Given the description of an element on the screen output the (x, y) to click on. 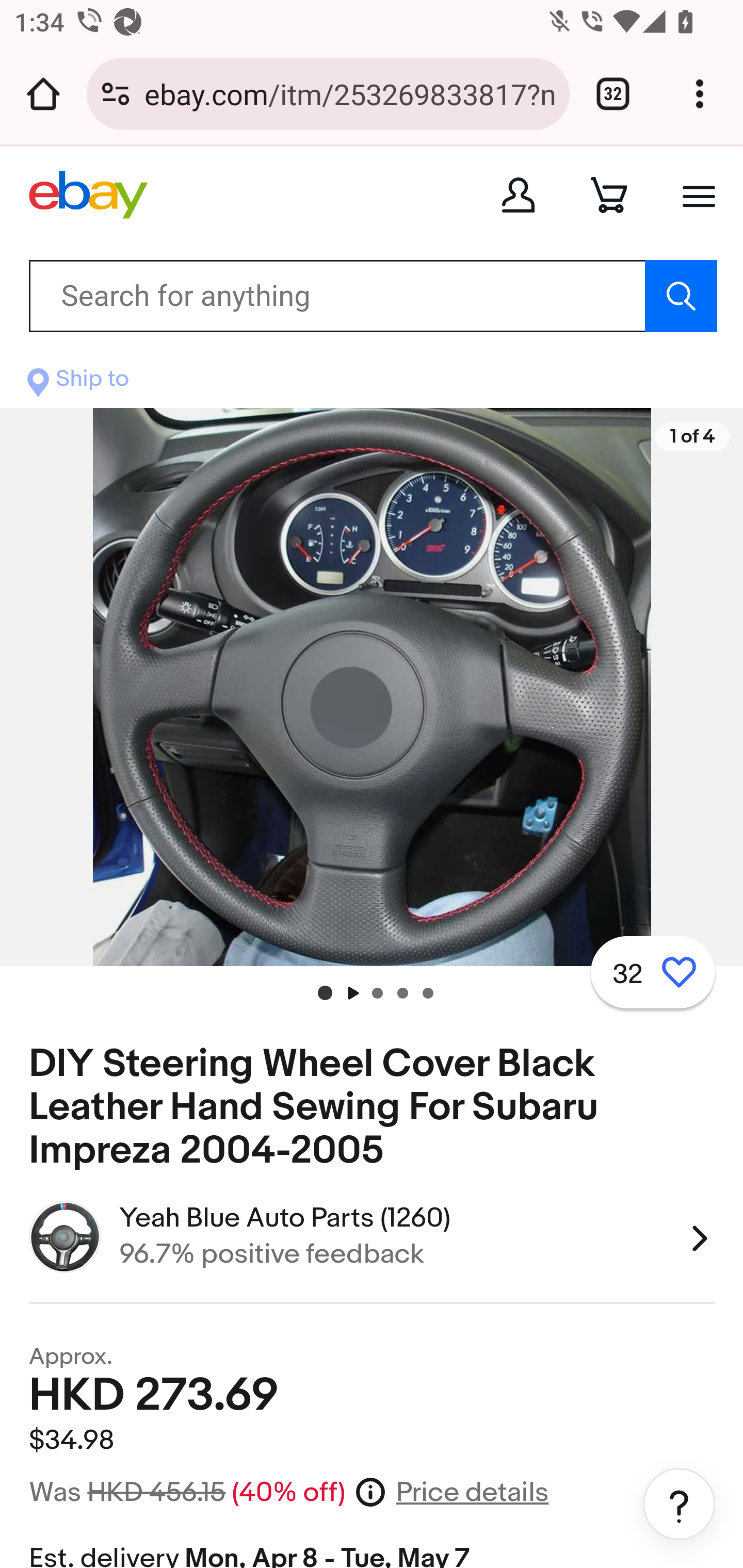
Open the home page (43, 93)
Connection is secure (115, 93)
Switch or close tabs (612, 93)
Customize and control Google Chrome (699, 93)
Open Menu (698, 195)
My eBay (518, 193)
Your shopping cart is empty (609, 193)
eBay Home (87, 194)
Search (680, 296)
Ship to (77, 383)
Add to watchlist - 32 watchers (652, 971)
Video 1 of 1 (352, 992)
Picture 1 of 3 (325, 993)
Picture 2 of 3 (378, 993)
Picture 3 of 3 (403, 993)
4 (428, 993)
ヘルプ (678, 1503)
What does this price mean? (371, 1490)
Price details (472, 1492)
